Given the description of an element on the screen output the (x, y) to click on. 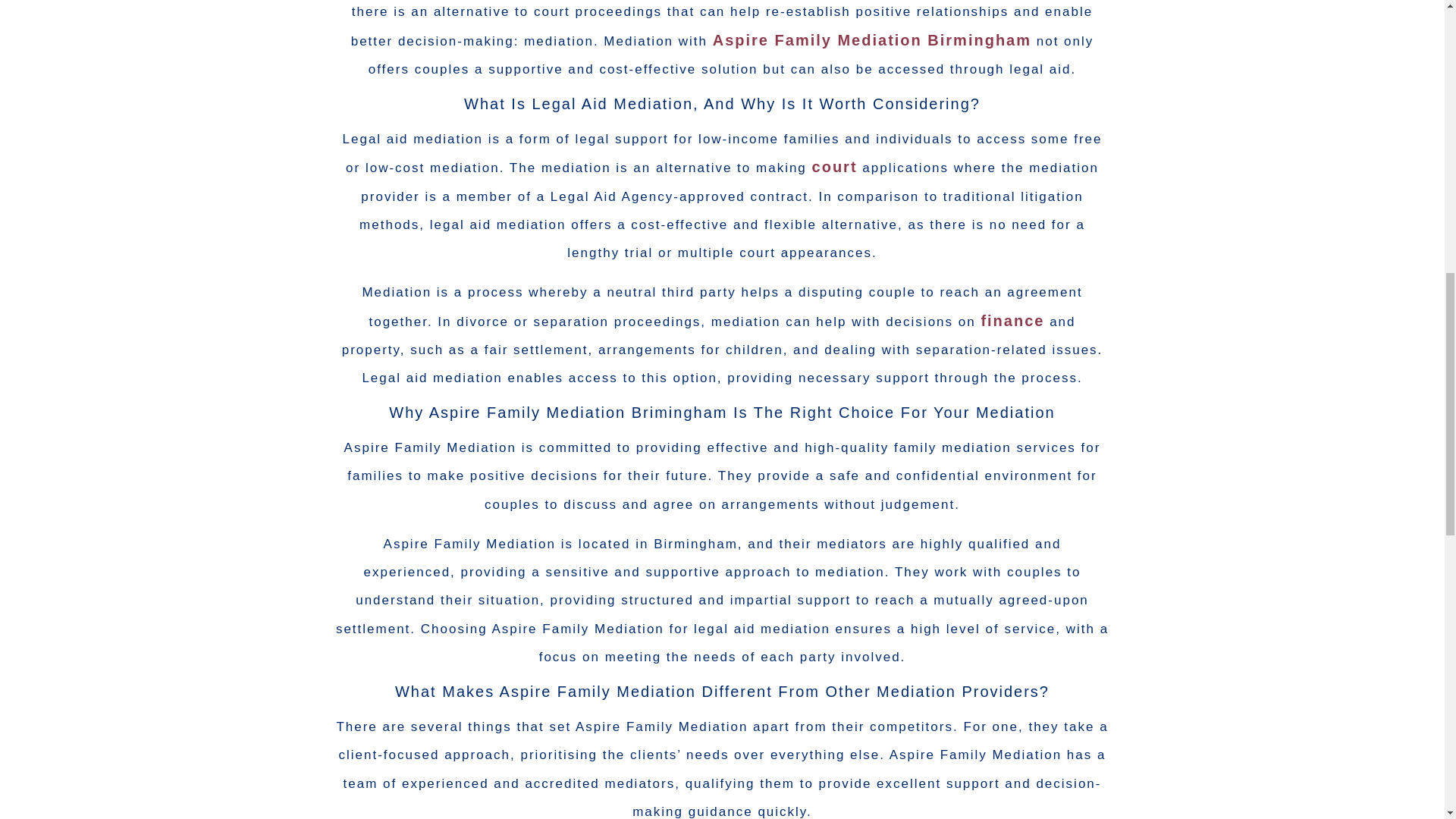
court (834, 166)
finance (1011, 320)
